Given the description of an element on the screen output the (x, y) to click on. 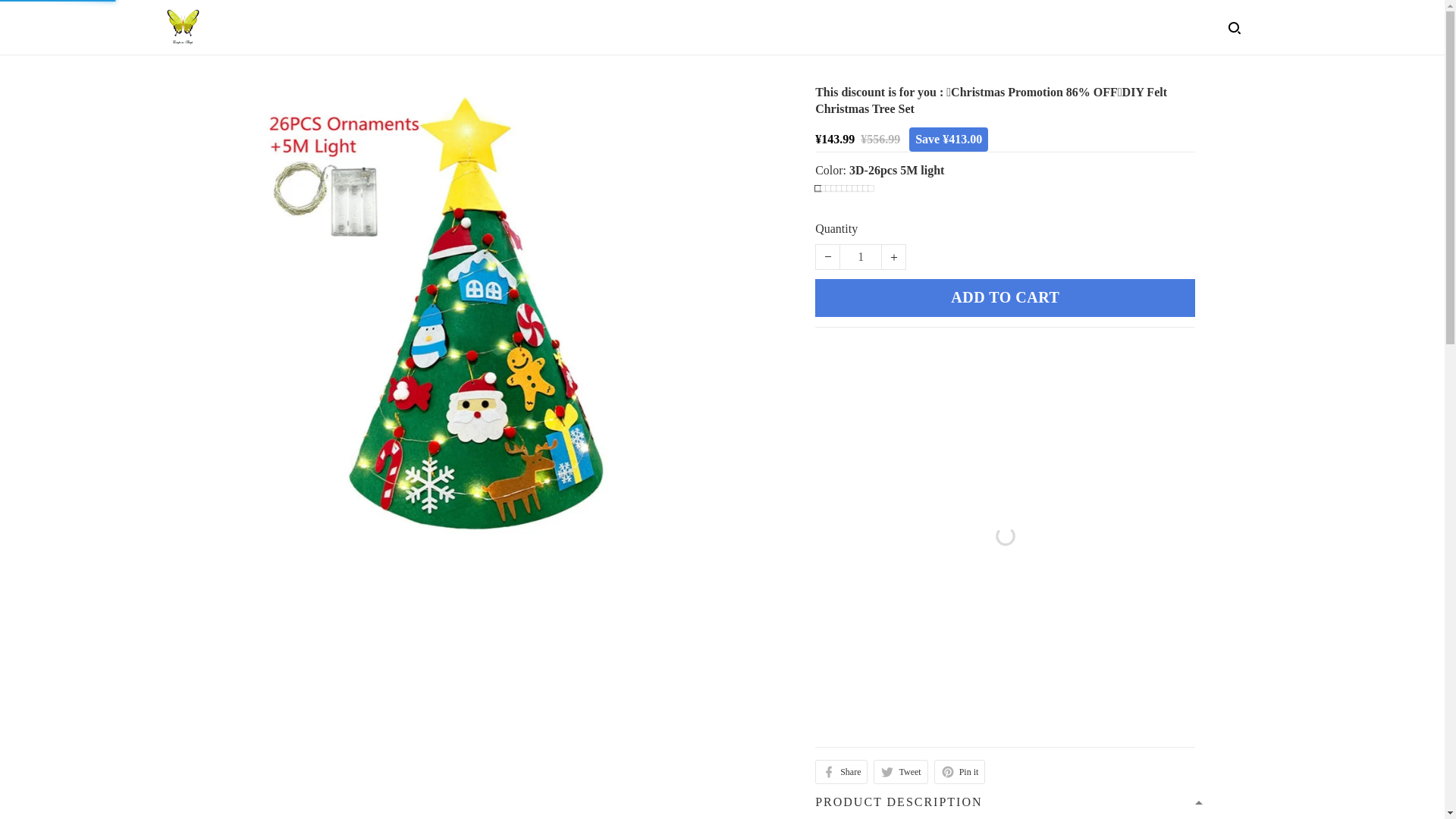
ADD TO CART (1005, 297)
Pin on Pinterest (959, 771)
Share on Twitter (900, 771)
Pin it (959, 771)
1 (860, 256)
Share (841, 771)
Tweet (900, 771)
Share on Facebook (841, 771)
